Given the description of an element on the screen output the (x, y) to click on. 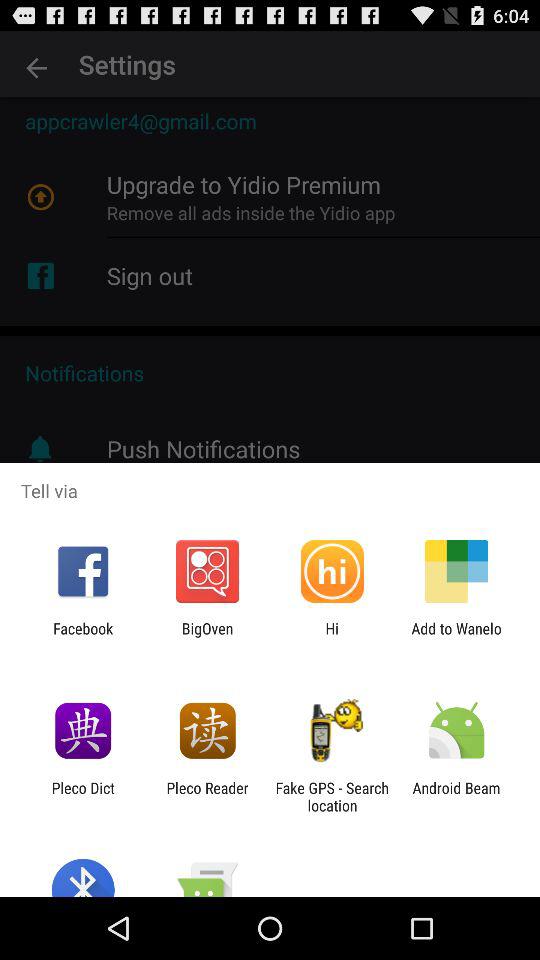
turn on android beam (456, 796)
